Given the description of an element on the screen output the (x, y) to click on. 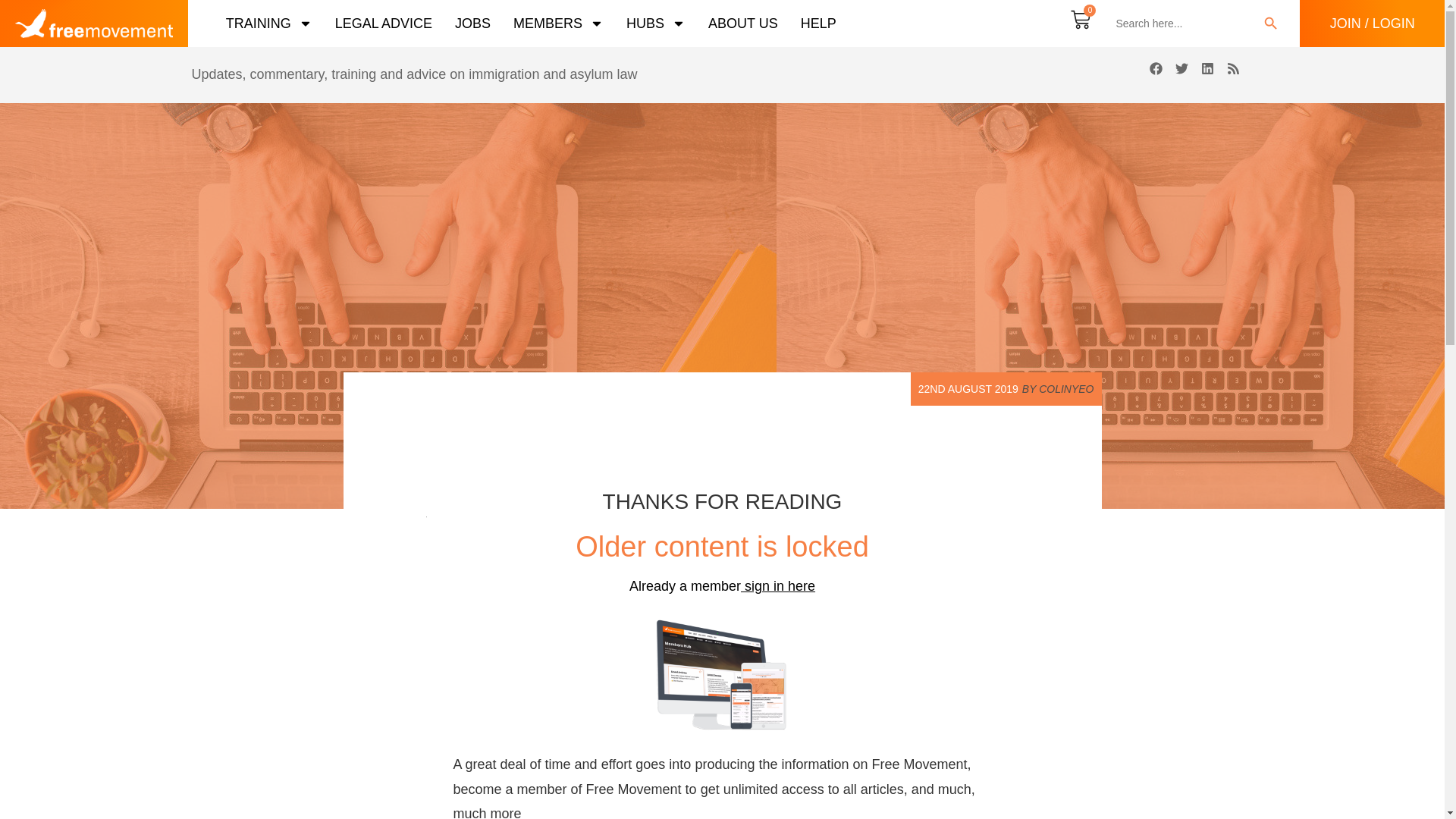
LEGAL ADVICE (383, 22)
HELP (817, 22)
TRAINING (269, 22)
ABOUT US (742, 22)
MEMBERS (558, 22)
HUBS (655, 22)
JOBS (472, 22)
